Given the description of an element on the screen output the (x, y) to click on. 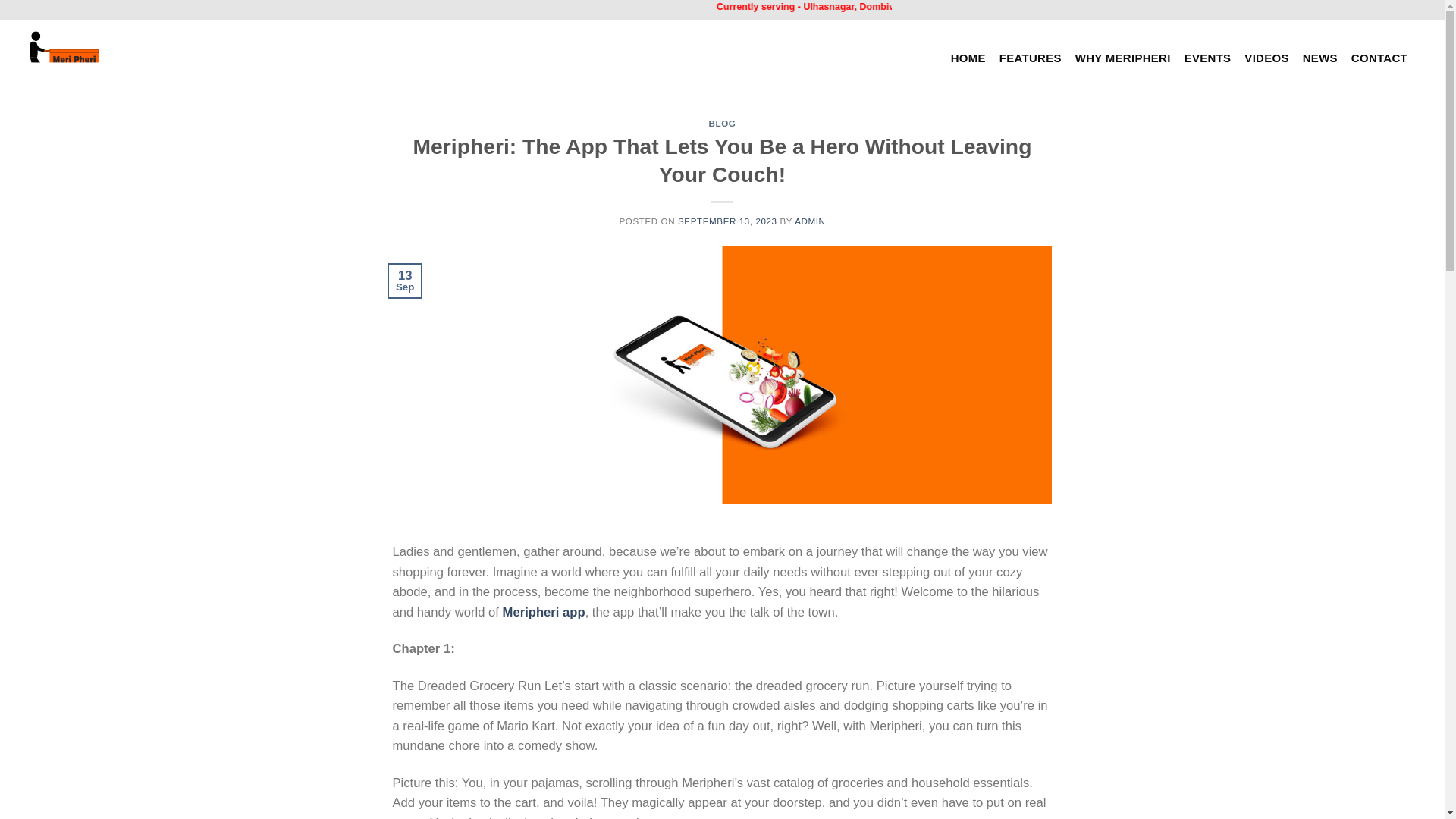
ADMIN (809, 221)
CONTACT (1379, 58)
NEWS (1320, 58)
WHY MERIPHERI (1122, 58)
HOME (967, 58)
VIDEOS (1266, 58)
BLOG (722, 122)
SEPTEMBER 13, 2023 (727, 221)
FEATURES (1029, 58)
Meripheri app (543, 612)
EVENTS (1208, 58)
